Given the description of an element on the screen output the (x, y) to click on. 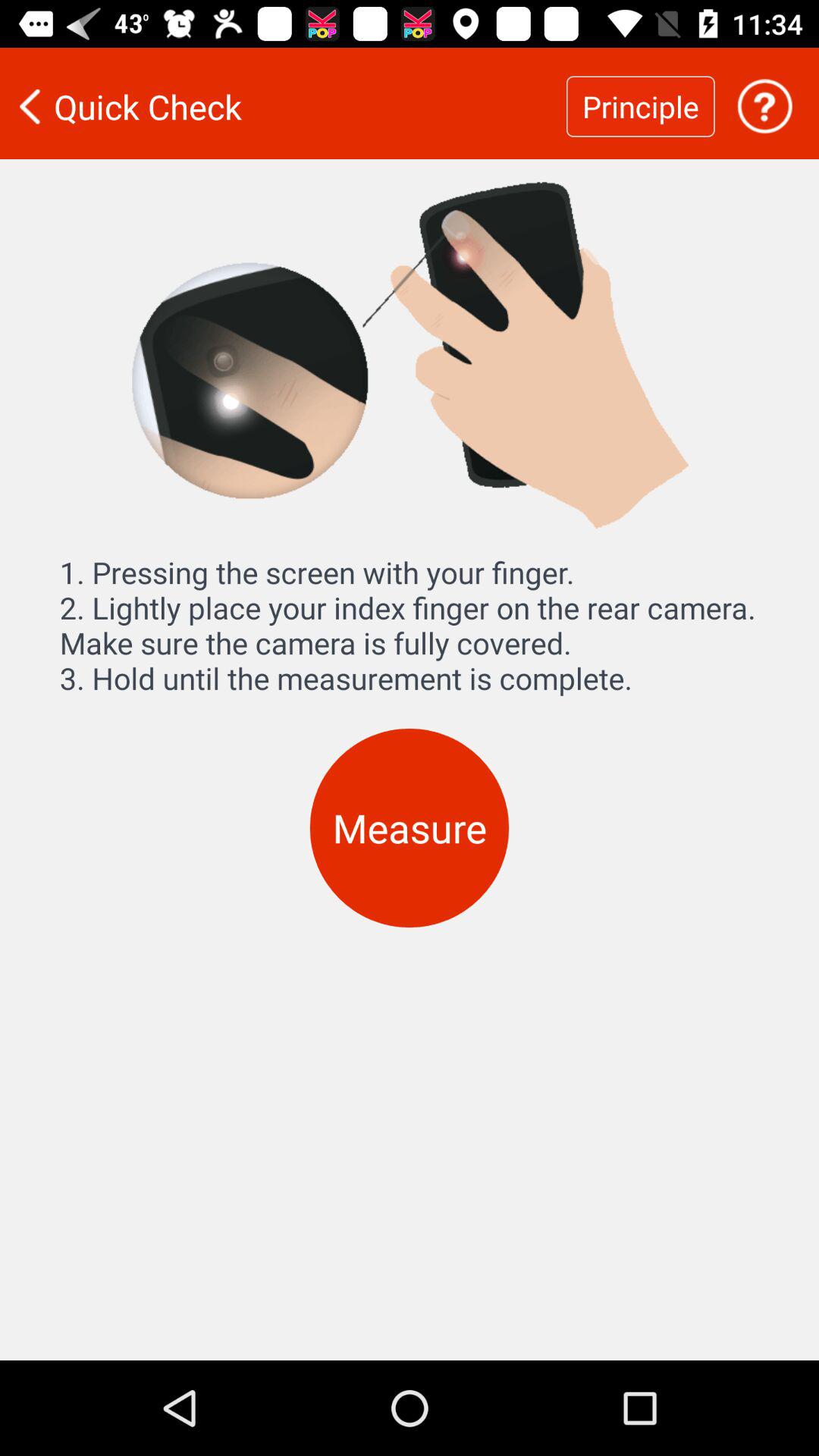
scroll to quick check item (283, 106)
